Given the description of an element on the screen output the (x, y) to click on. 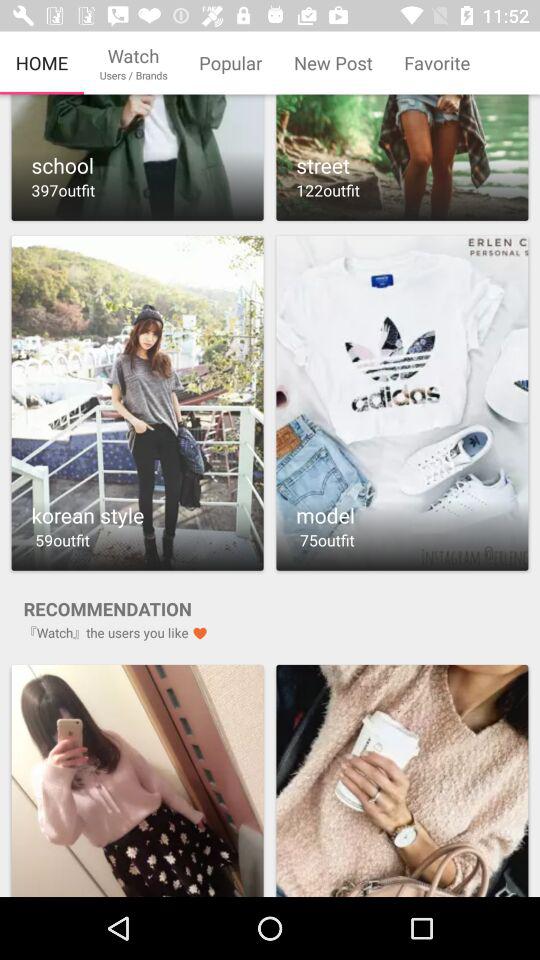
view album (402, 158)
